Given the description of an element on the screen output the (x, y) to click on. 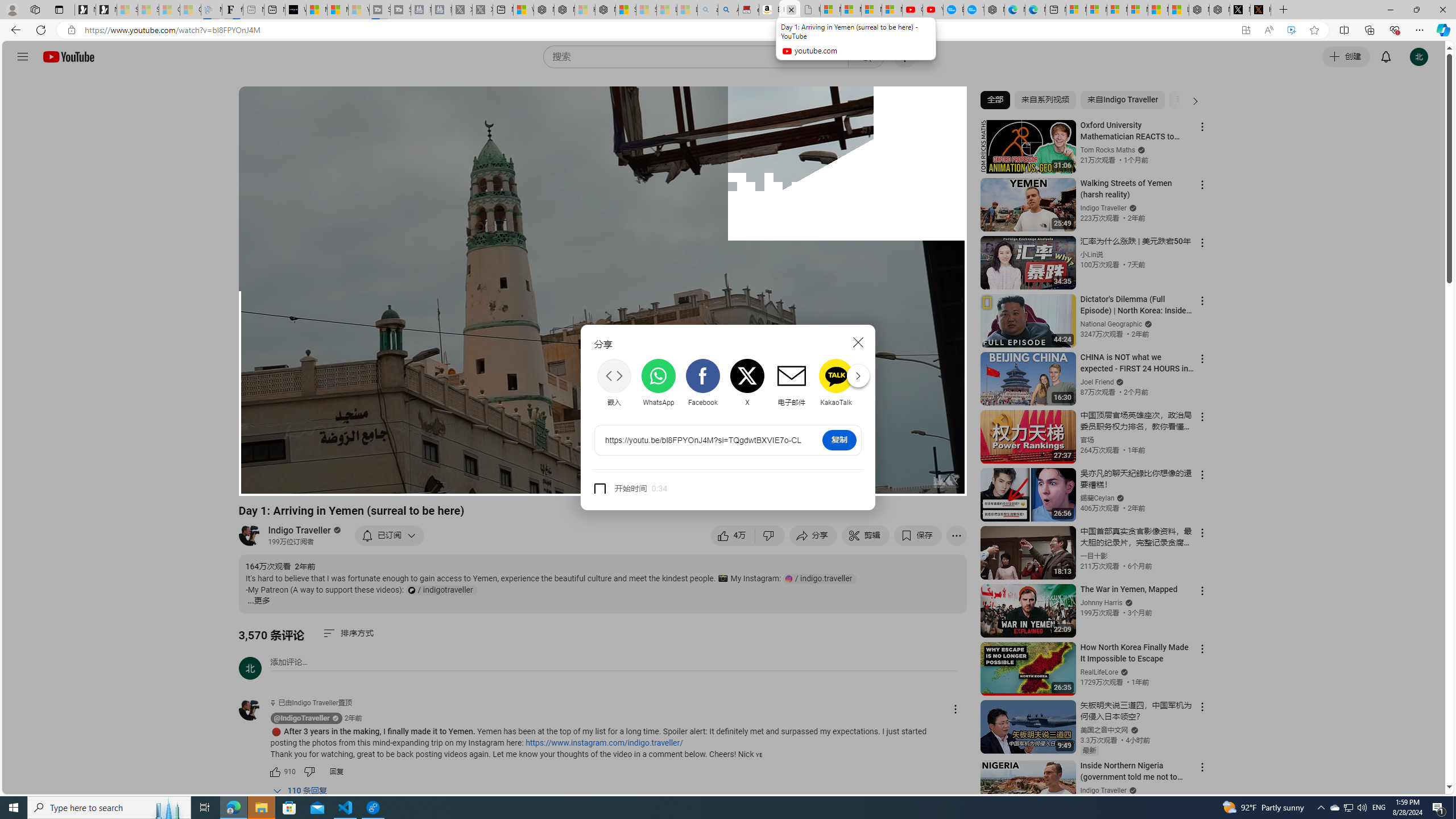
Facebook (702, 382)
Untitled (809, 9)
Indigo Traveller (299, 530)
Intro (388, 482)
